Given the description of an element on the screen output the (x, y) to click on. 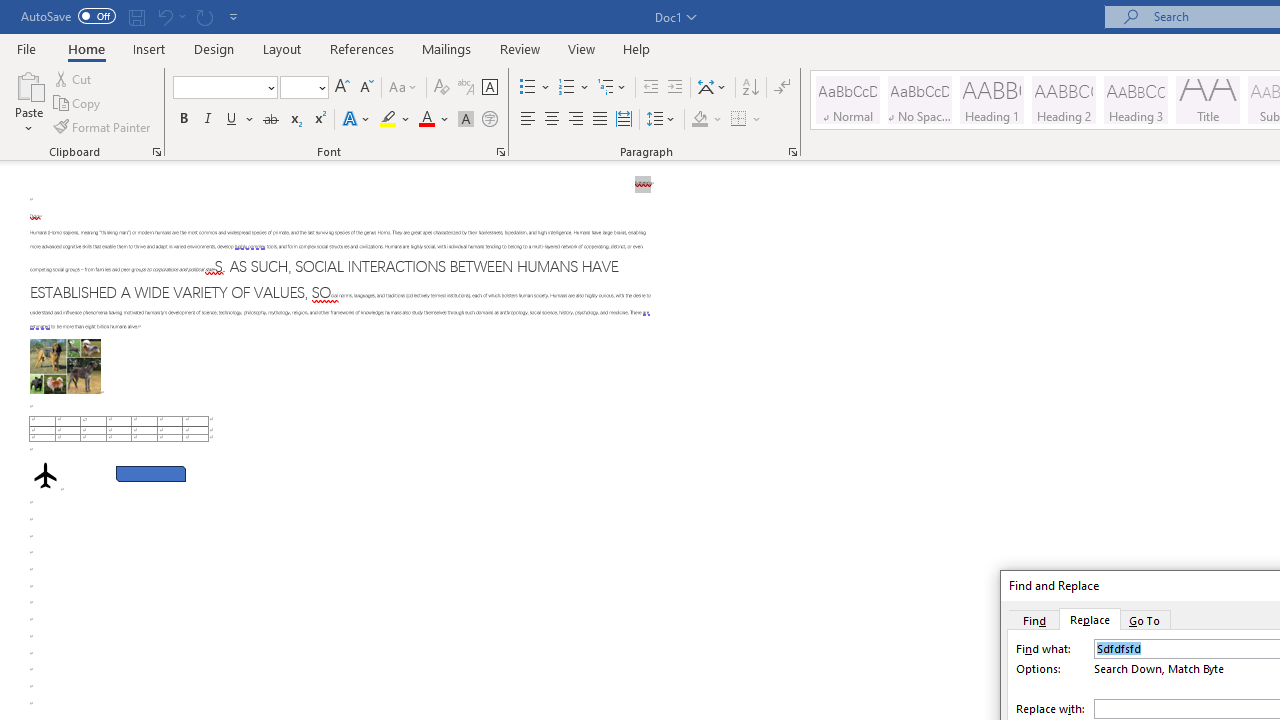
Airplane with solid fill (45, 475)
Heading 2 (1063, 100)
